Given the description of an element on the screen output the (x, y) to click on. 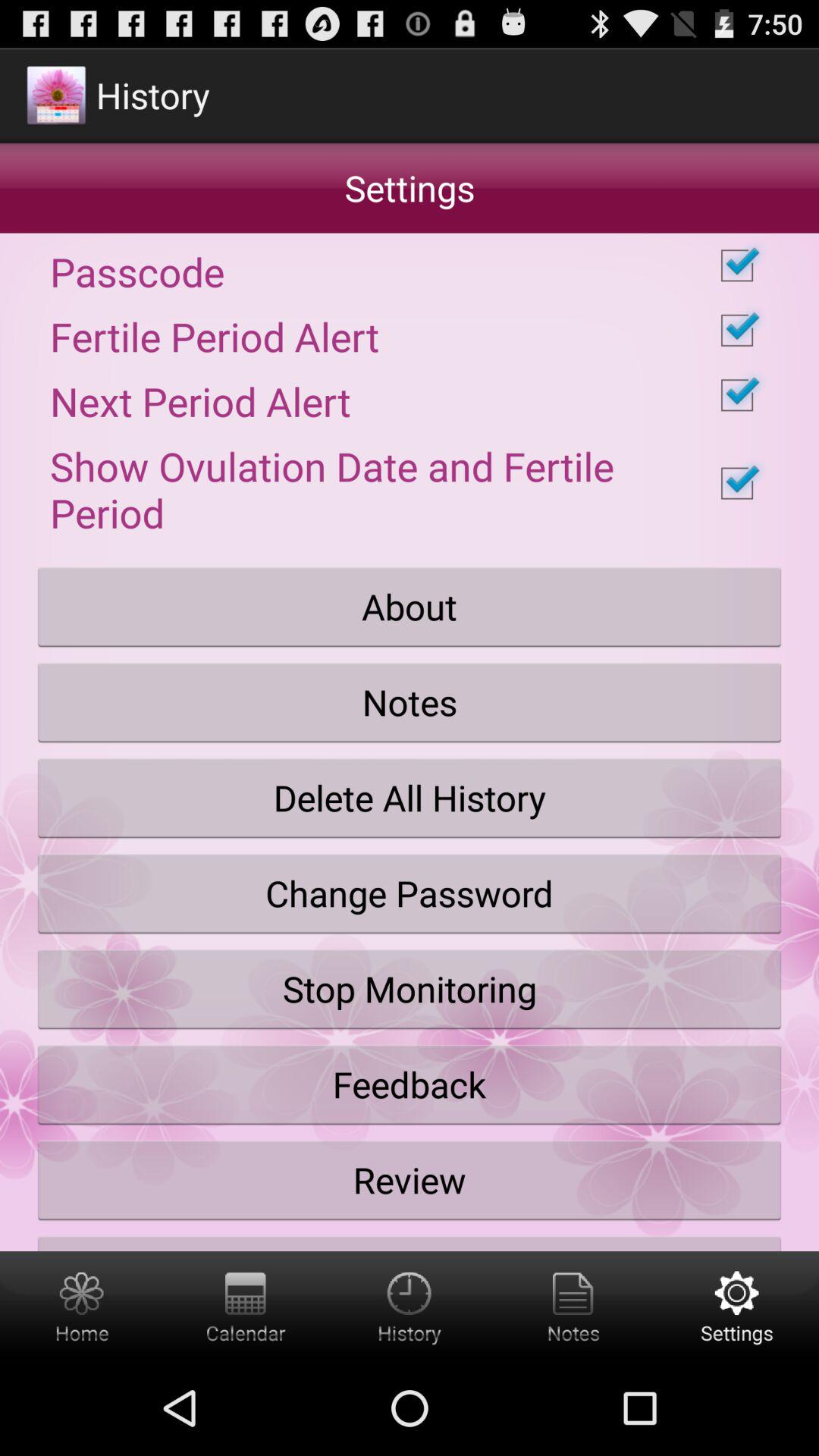
jump until the delete all history icon (409, 797)
